Given the description of an element on the screen output the (x, y) to click on. 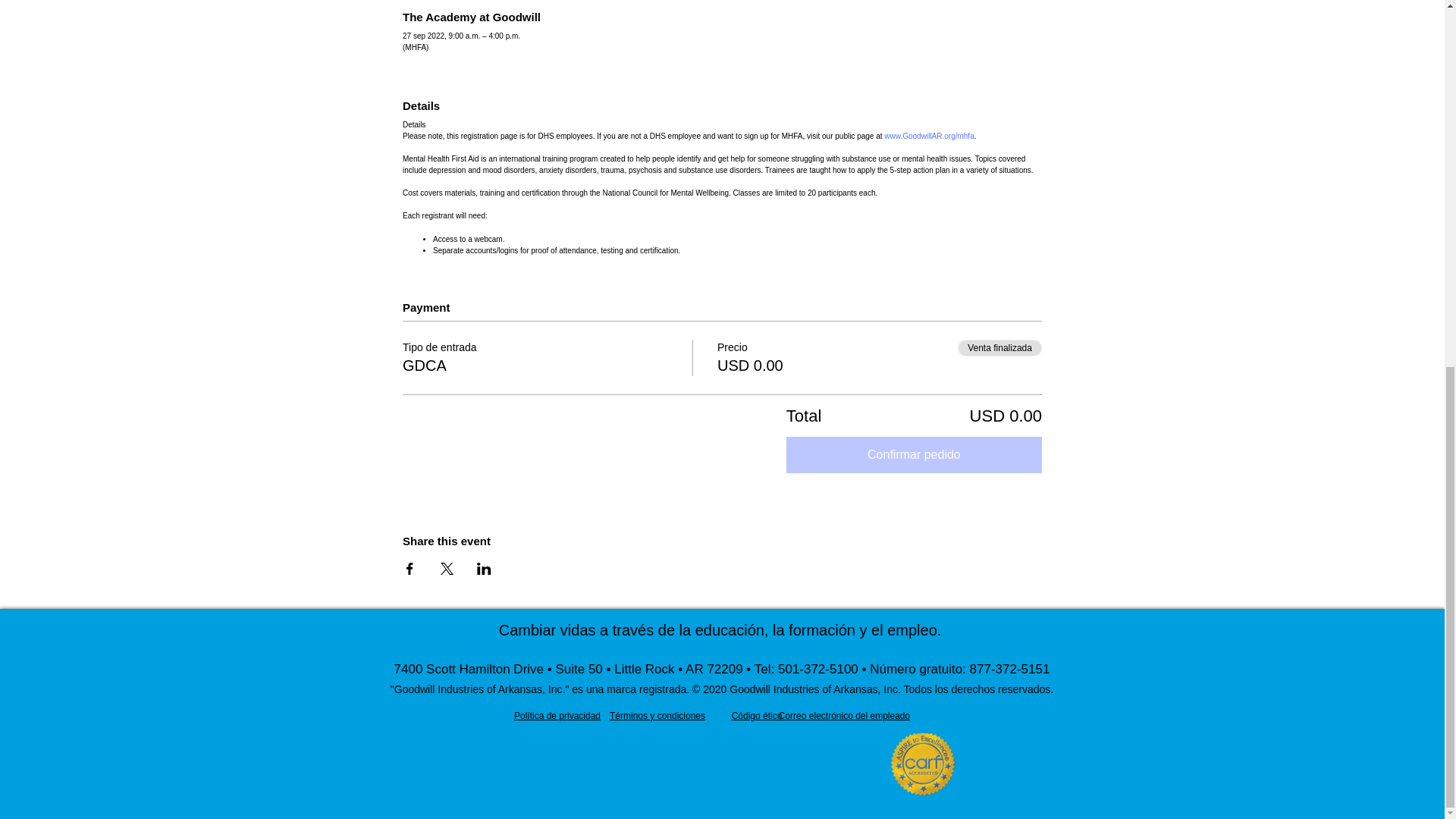
Confirmar pedido (914, 454)
